Given the description of an element on the screen output the (x, y) to click on. 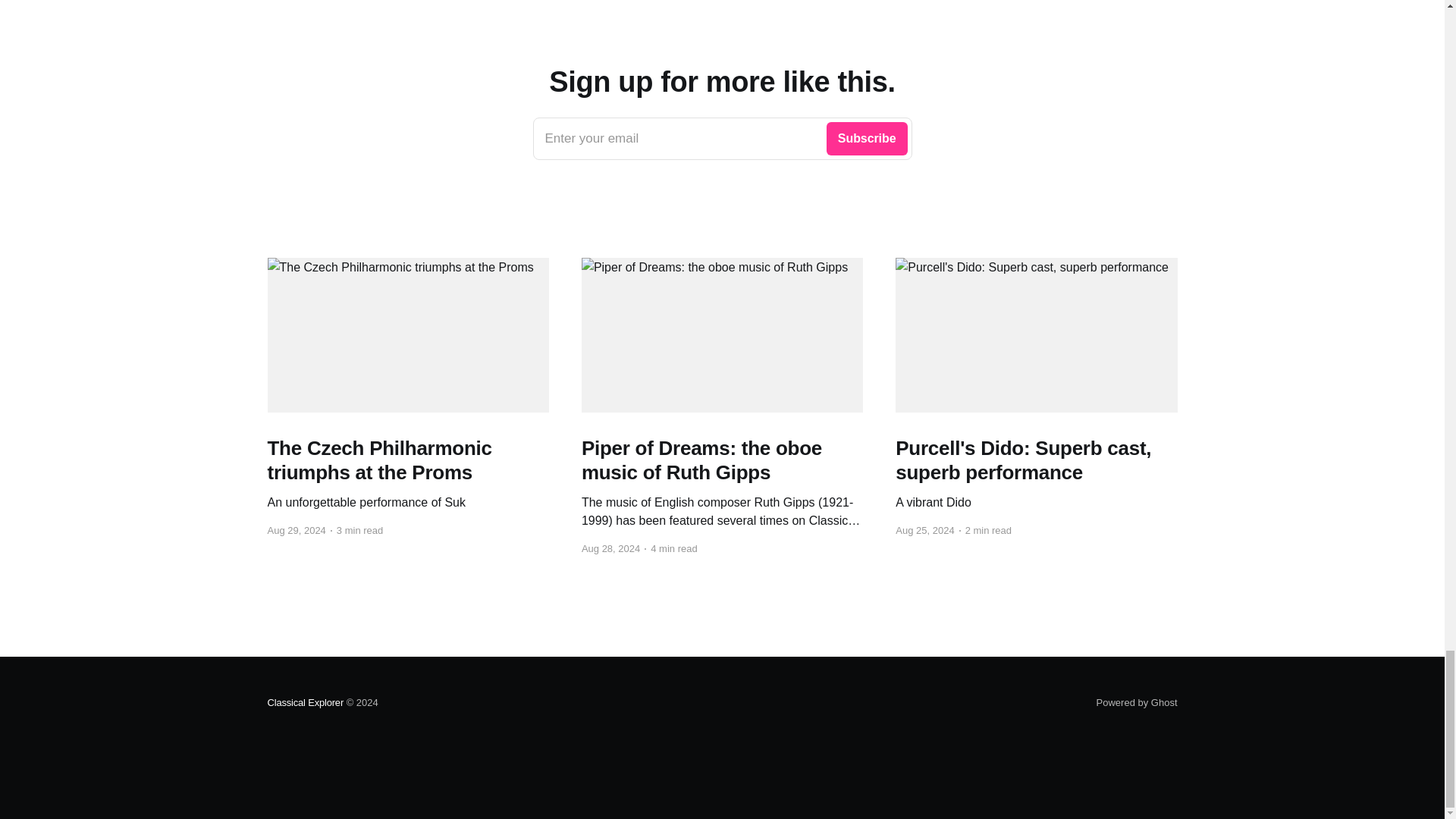
Classical Explorer (304, 702)
Powered by Ghost (1136, 702)
